Given the description of an element on the screen output the (x, y) to click on. 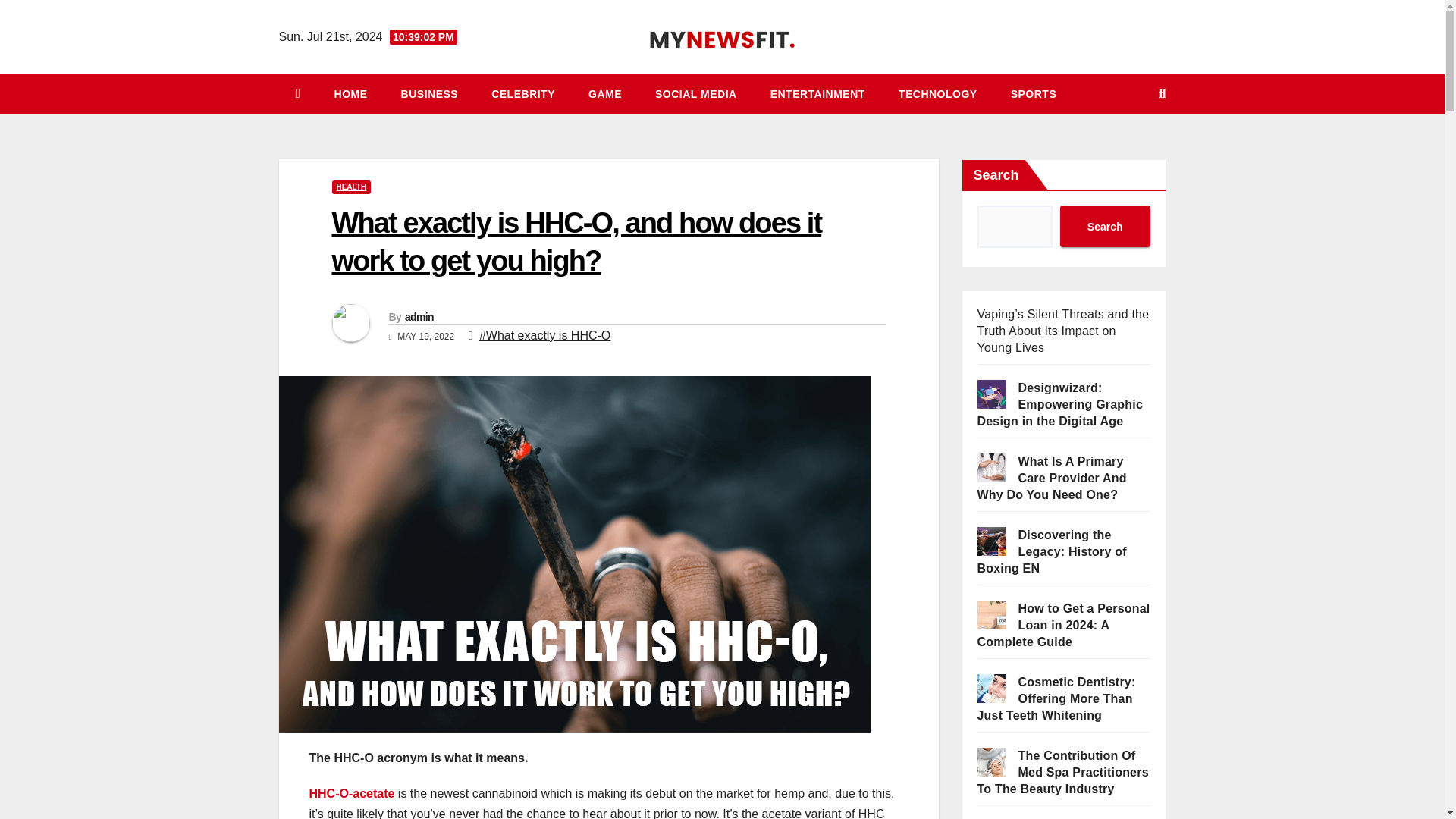
Game (605, 93)
Entertainment (818, 93)
What exactly is HHC-O, and how does it work to get you high? (576, 241)
ENTERTAINMENT (818, 93)
Home (350, 93)
Sports (1034, 93)
TECHNOLOGY (938, 93)
CELEBRITY (523, 93)
Social Media (696, 93)
HHC-O-acetate (351, 793)
BUSINESS (430, 93)
Business (430, 93)
HEALTH (351, 187)
Celebrity (523, 93)
